Given the description of an element on the screen output the (x, y) to click on. 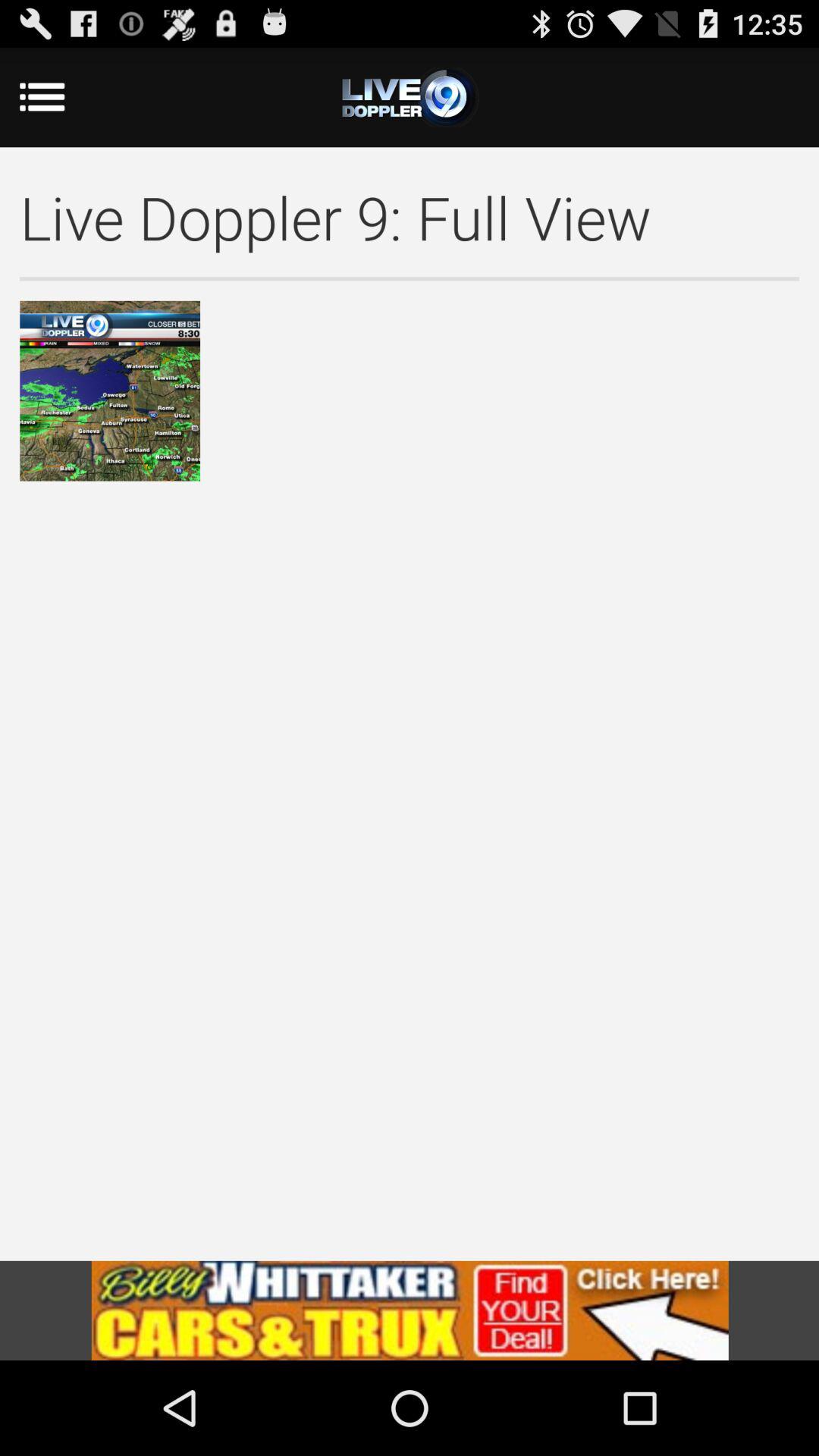
turn off the item at the bottom (409, 1310)
